Given the description of an element on the screen output the (x, y) to click on. 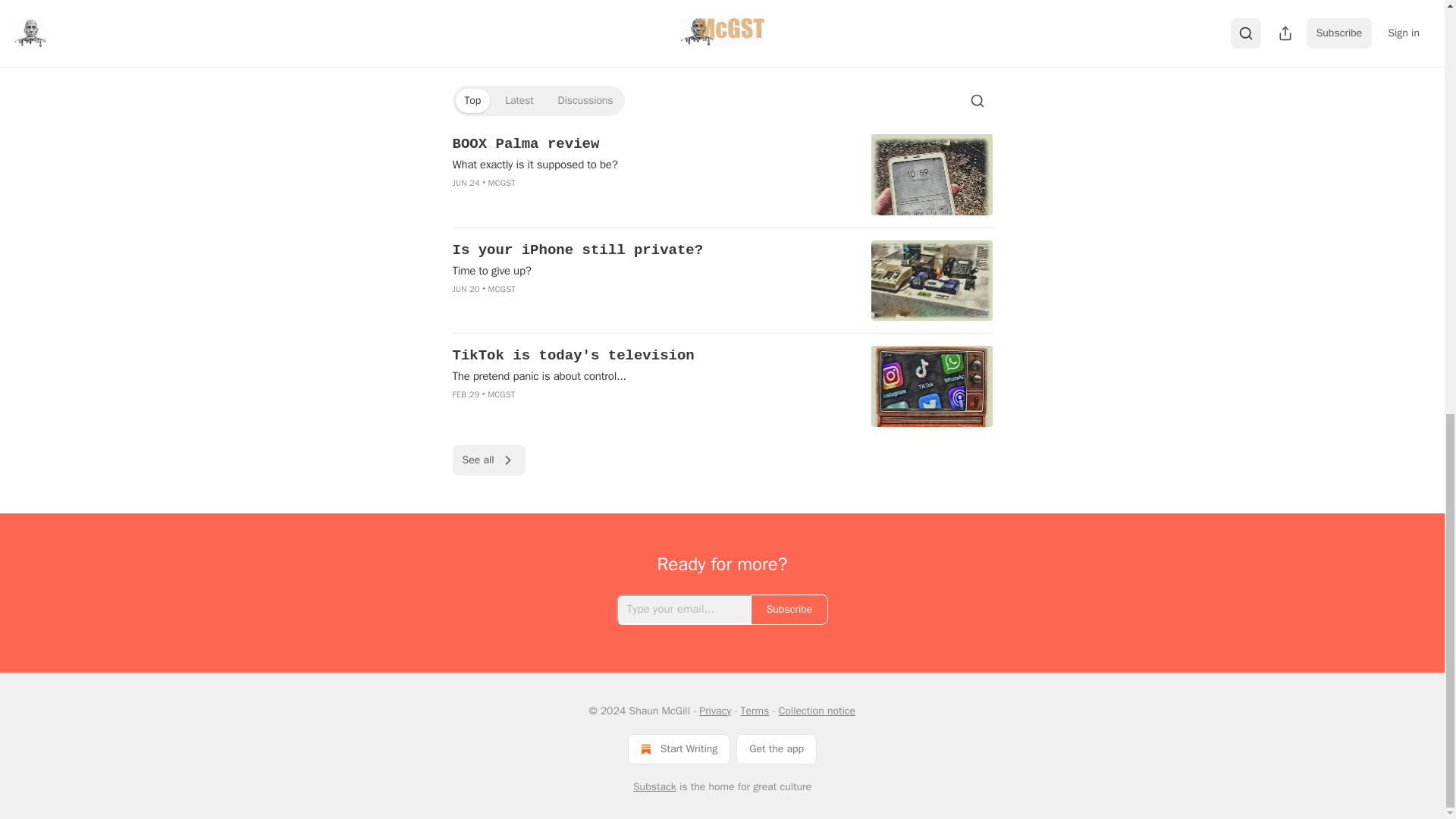
Top (471, 100)
Discussions (585, 100)
BOOX Palma review (651, 143)
Latest (518, 100)
